Given the description of an element on the screen output the (x, y) to click on. 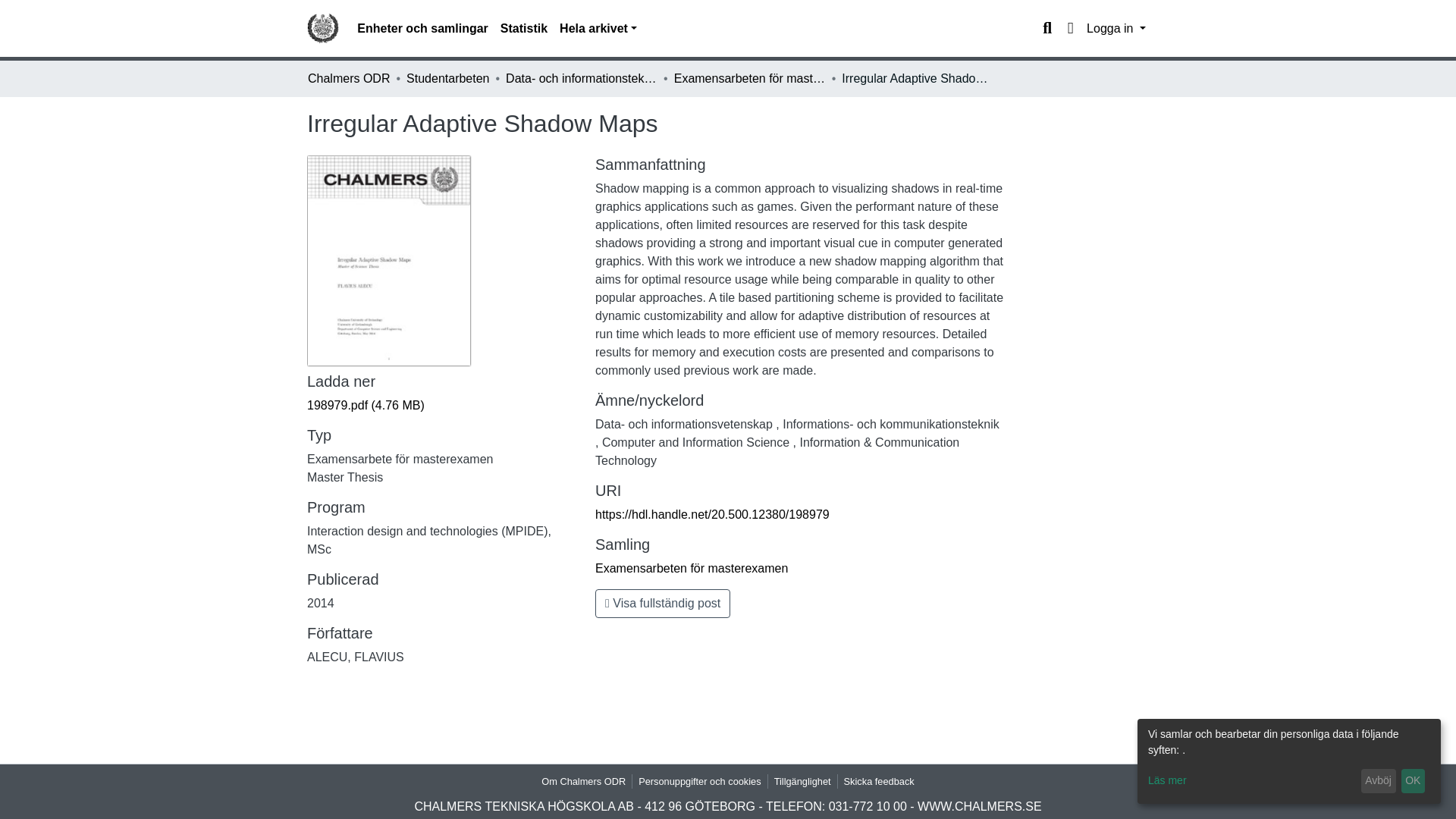
Enheter och samlingar (422, 28)
Studentarbeten (447, 78)
Logga in (1115, 28)
OK (1412, 781)
Chalmers ODR (348, 78)
Statistik (524, 28)
Om Chalmers ODR (583, 780)
WWW.CHALMERS.SE (979, 806)
Enheter och samlingar (422, 28)
Hela arkivet (598, 28)
Statistik (524, 28)
Skicka feedback (879, 780)
Personuppgifter och cookies (699, 780)
